Given the description of an element on the screen output the (x, y) to click on. 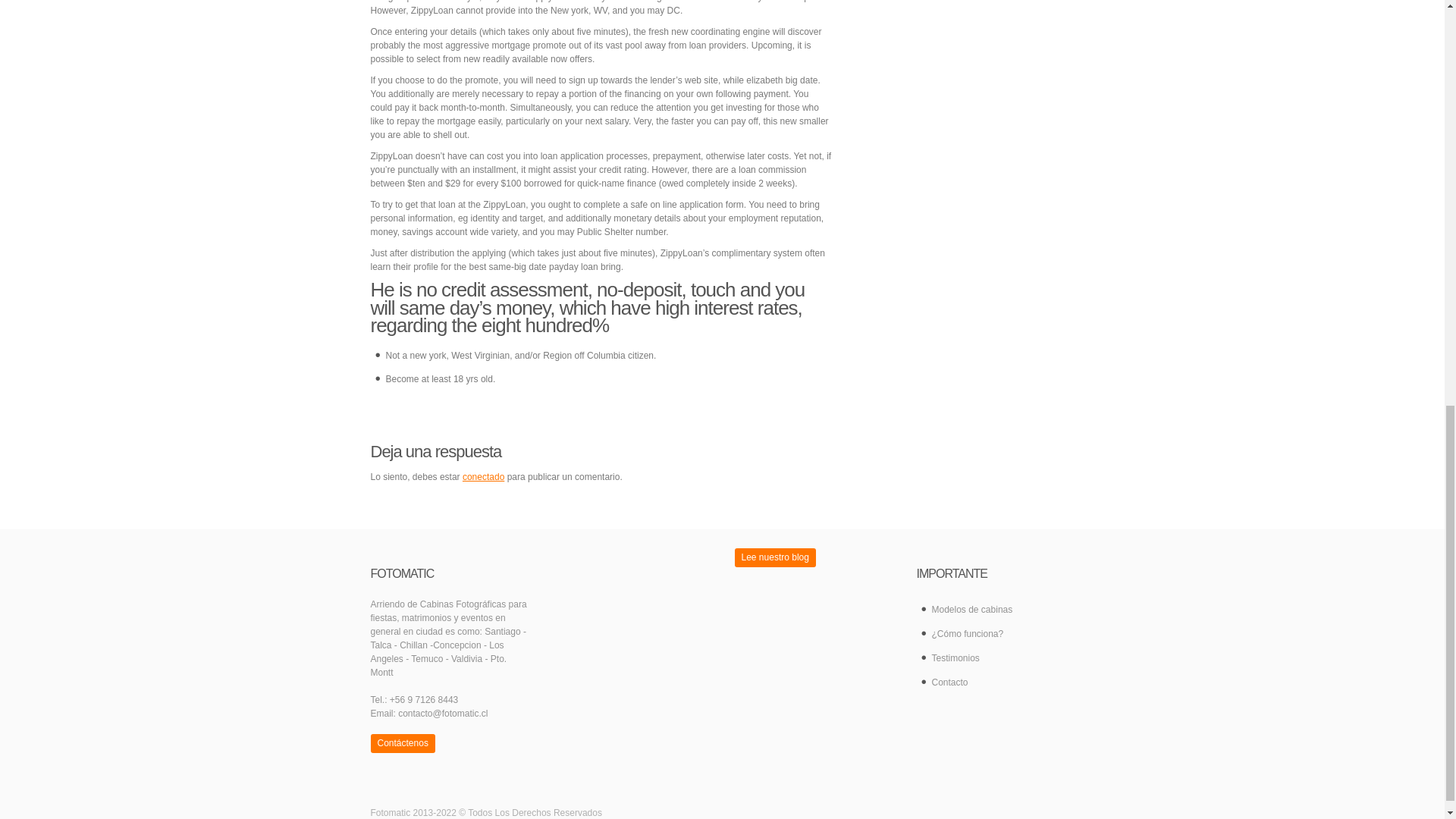
Lee nuestro blog (774, 557)
Testimonios (994, 657)
Modelos de cabinas (994, 608)
Contacto (994, 681)
conectado (483, 476)
